Given the description of an element on the screen output the (x, y) to click on. 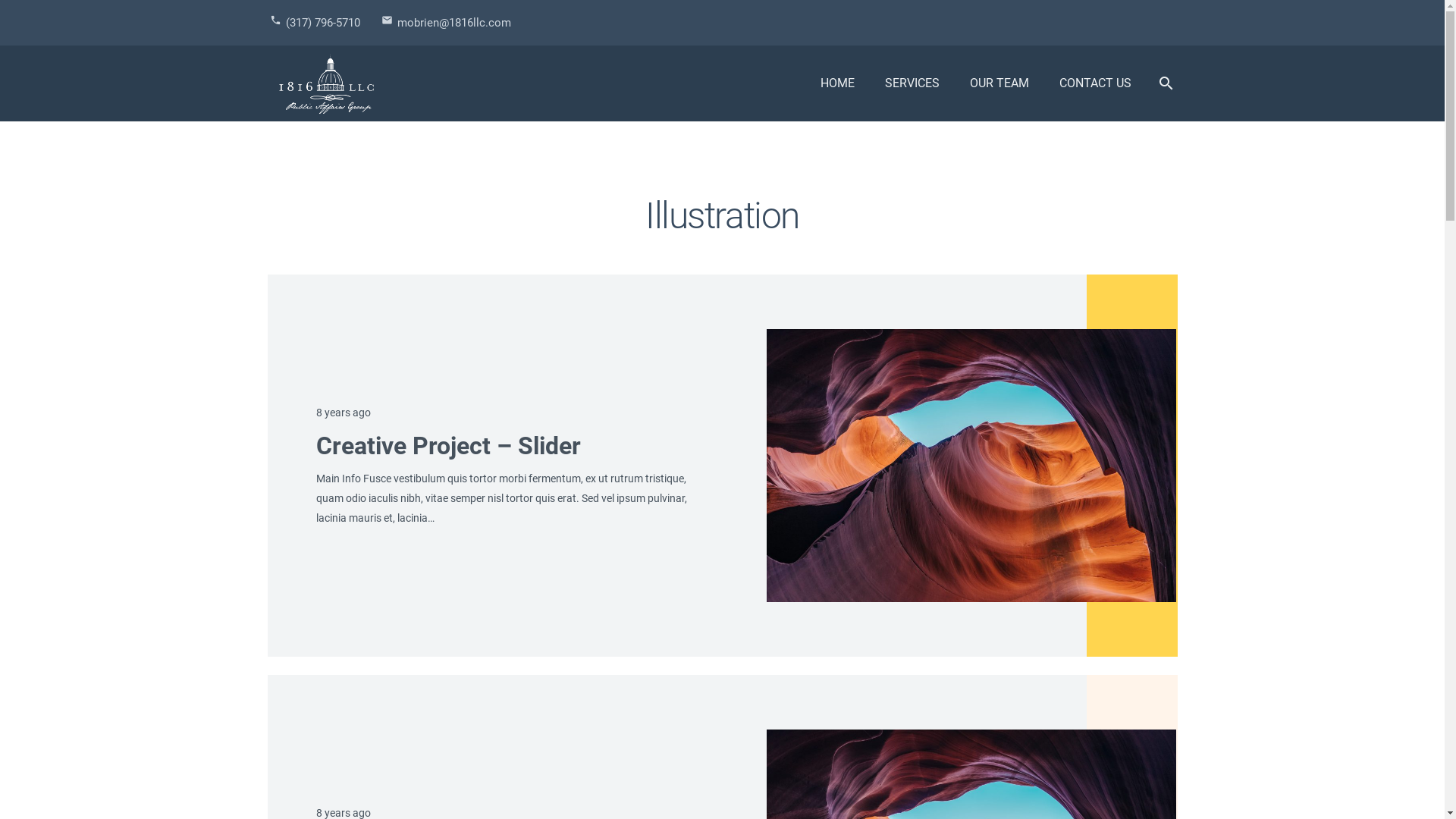
SERVICES Element type: text (911, 83)
OUR TEAM Element type: text (999, 83)
CONTACT US Element type: text (1095, 83)
search Element type: text (1166, 83)
HOME Element type: text (837, 83)
emailmobrien@1816llc.com Element type: text (446, 22)
